Given the description of an element on the screen output the (x, y) to click on. 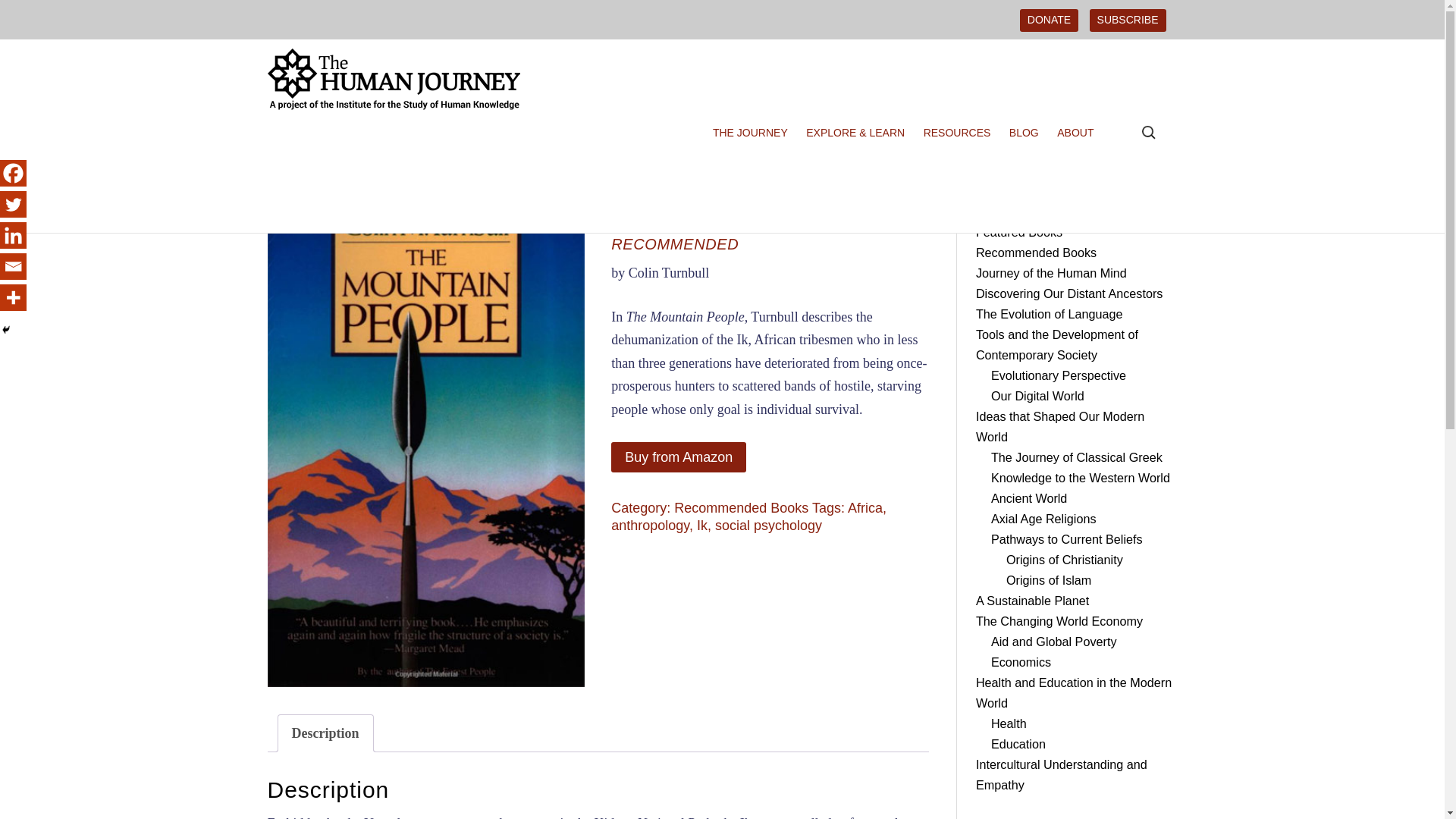
RESOURCES (960, 133)
Hide (5, 329)
Facebook (13, 172)
anthropology (649, 525)
Recommended Books (741, 507)
Bookstore (292, 163)
DONATE (1049, 20)
BLOG (1027, 133)
SUBSCRIBE (1127, 20)
